Given the description of an element on the screen output the (x, y) to click on. 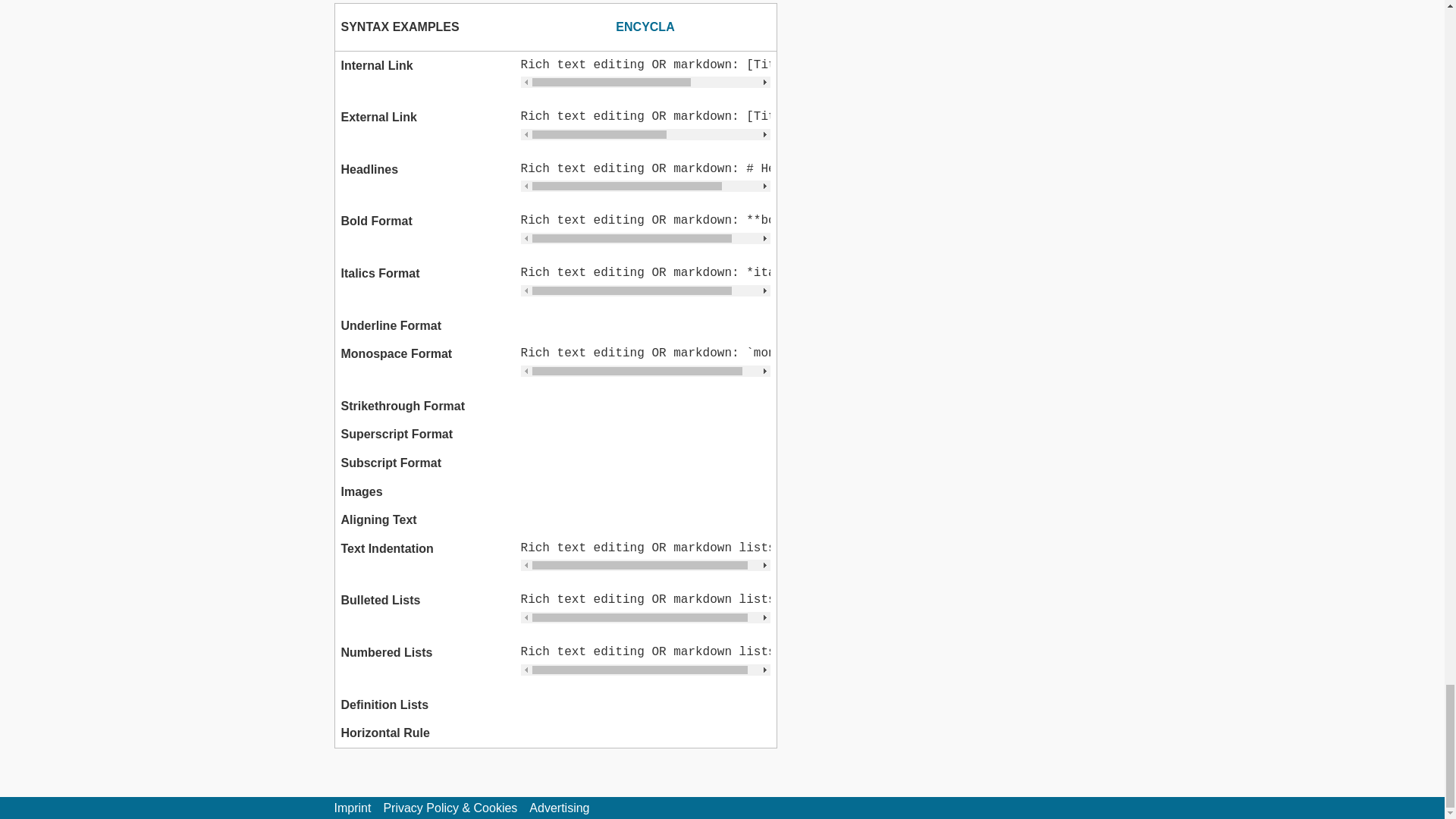
ENCYCLA (644, 26)
Advertising (559, 807)
Imprint (352, 807)
